Given the description of an element on the screen output the (x, y) to click on. 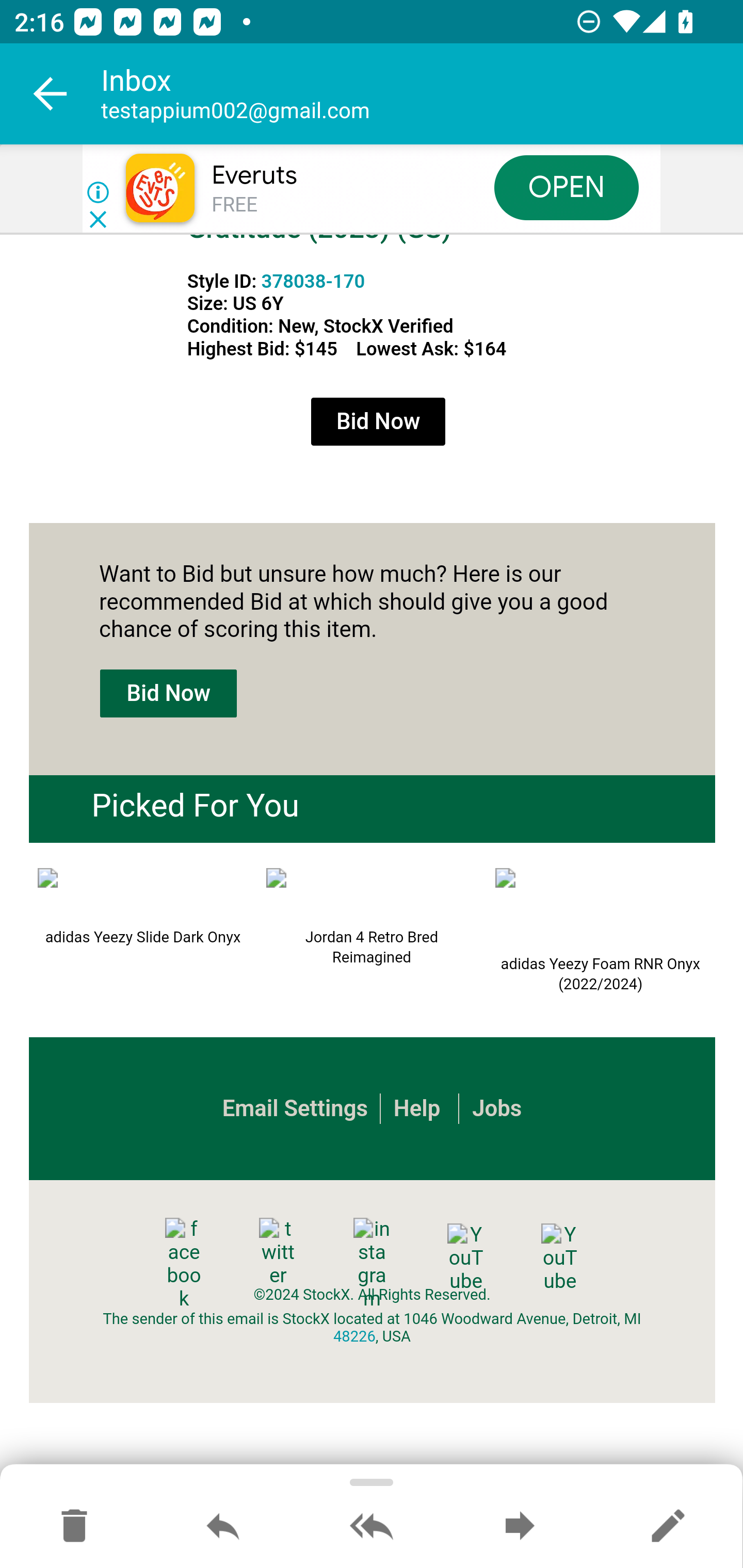
Navigate up (50, 93)
Inbox testappium002@gmail.com (422, 93)
OPEN (566, 187)
Everuts (253, 175)
FREE (234, 204)
378038-170 (313, 281)
Bid Now (378, 421)
Bid Now (168, 693)
Picked For You (194, 805)
adidas Yeezy Slide Dark Onyx (142, 894)
Jordan 4 Retro Bred Reimagined (371, 894)
adidas Yeezy Foam RNR Onyx (2022/2024) (599, 908)
Email Settings (295, 1108)
Help (416, 1108)
Jobs (497, 1108)
facebook (183, 1264)
twitter (277, 1252)
instagram (371, 1264)
YouTube (465, 1257)
YouTube (559, 1257)
48226 (354, 1336)
Move to Deleted (74, 1527)
Reply (222, 1527)
Reply all (371, 1527)
Forward (519, 1527)
Reply as new (667, 1527)
